Given the description of an element on the screen output the (x, y) to click on. 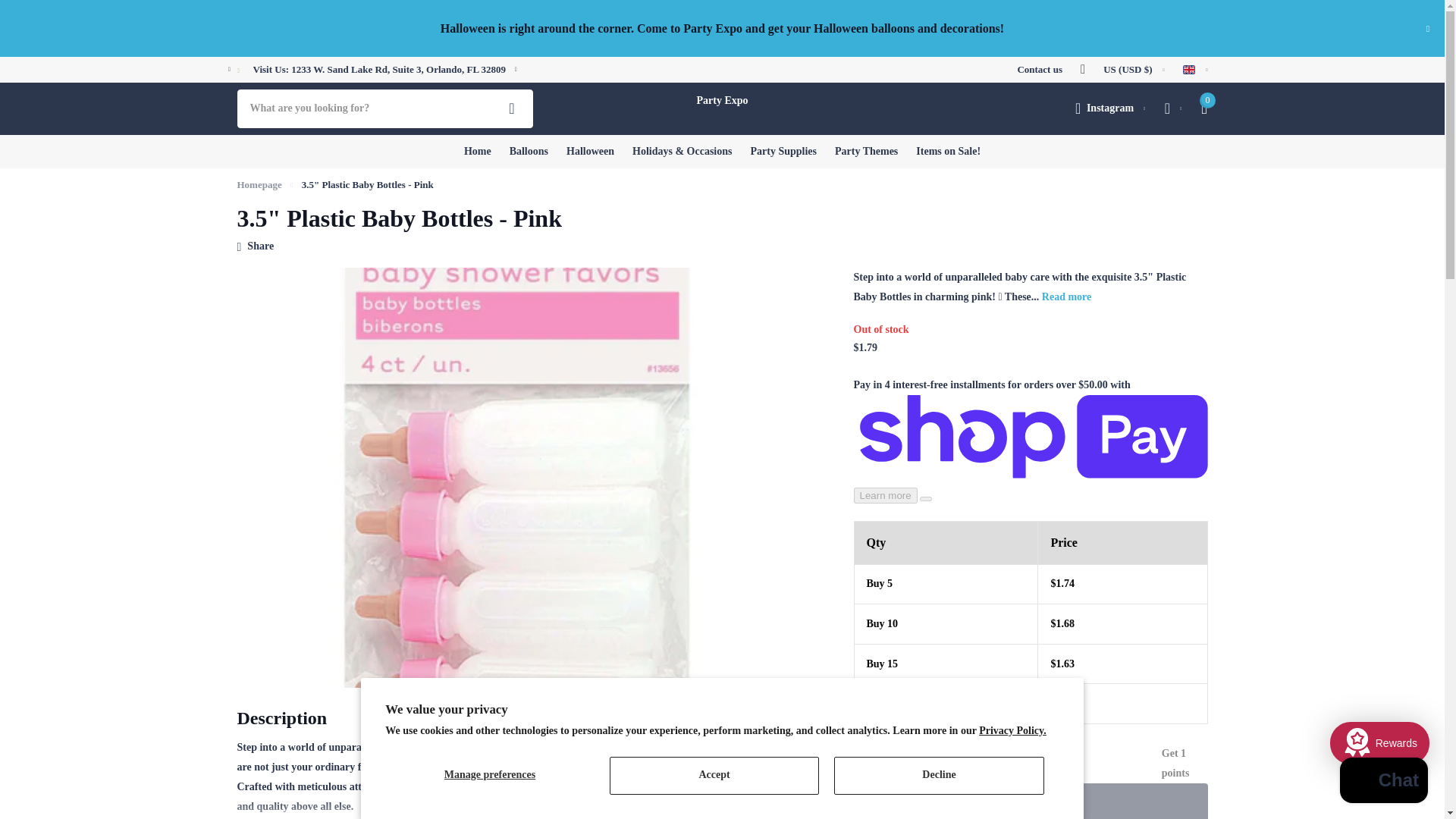
Manage preferences (489, 775)
Shopify online store chat (1383, 781)
Privacy Policy. (1012, 730)
Contact us (1039, 69)
Home (258, 184)
Accept (714, 775)
Decline (938, 775)
Next (515, 69)
